Given the description of an element on the screen output the (x, y) to click on. 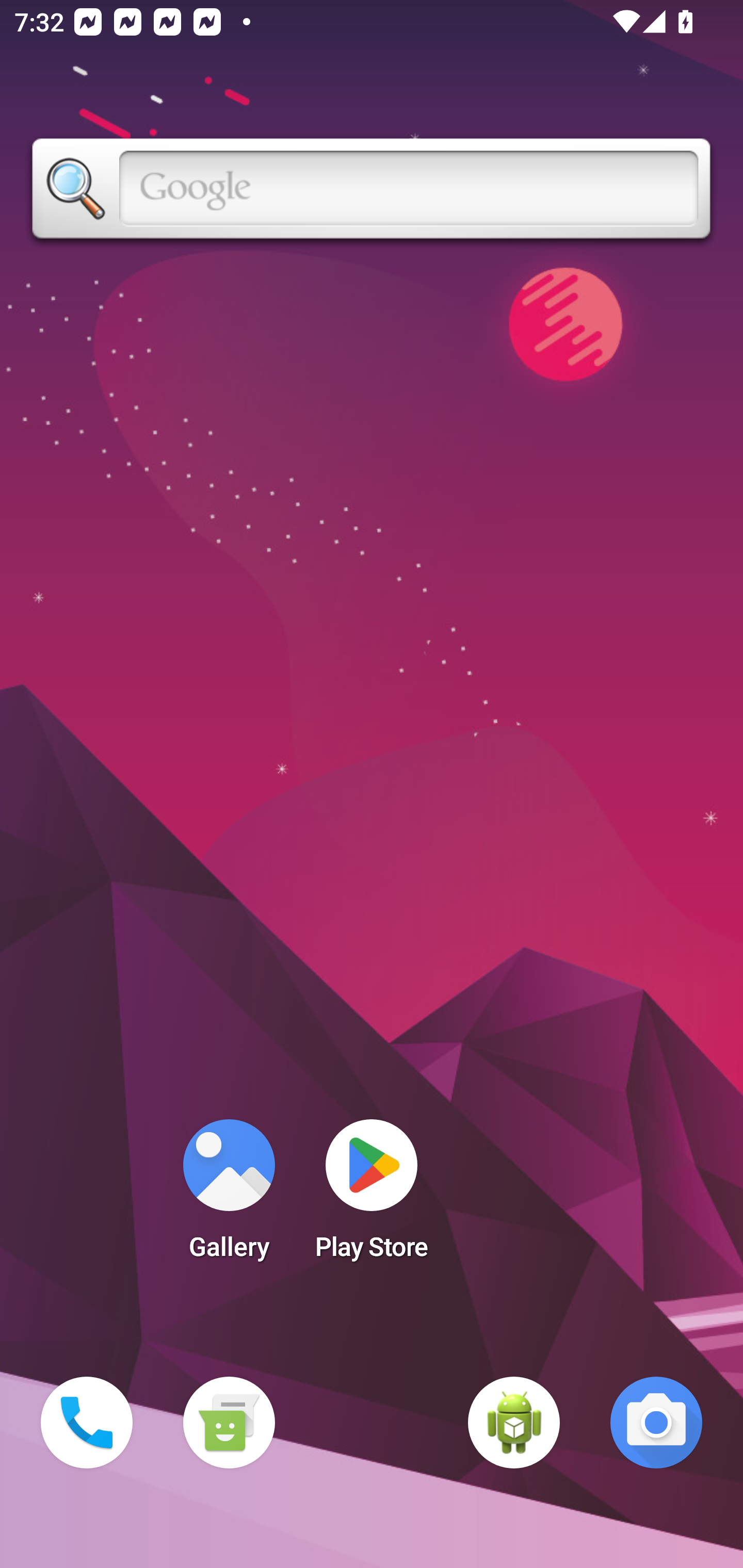
Gallery (228, 1195)
Play Store (371, 1195)
Phone (86, 1422)
Messaging (228, 1422)
WebView Browser Tester (513, 1422)
Camera (656, 1422)
